Given the description of an element on the screen output the (x, y) to click on. 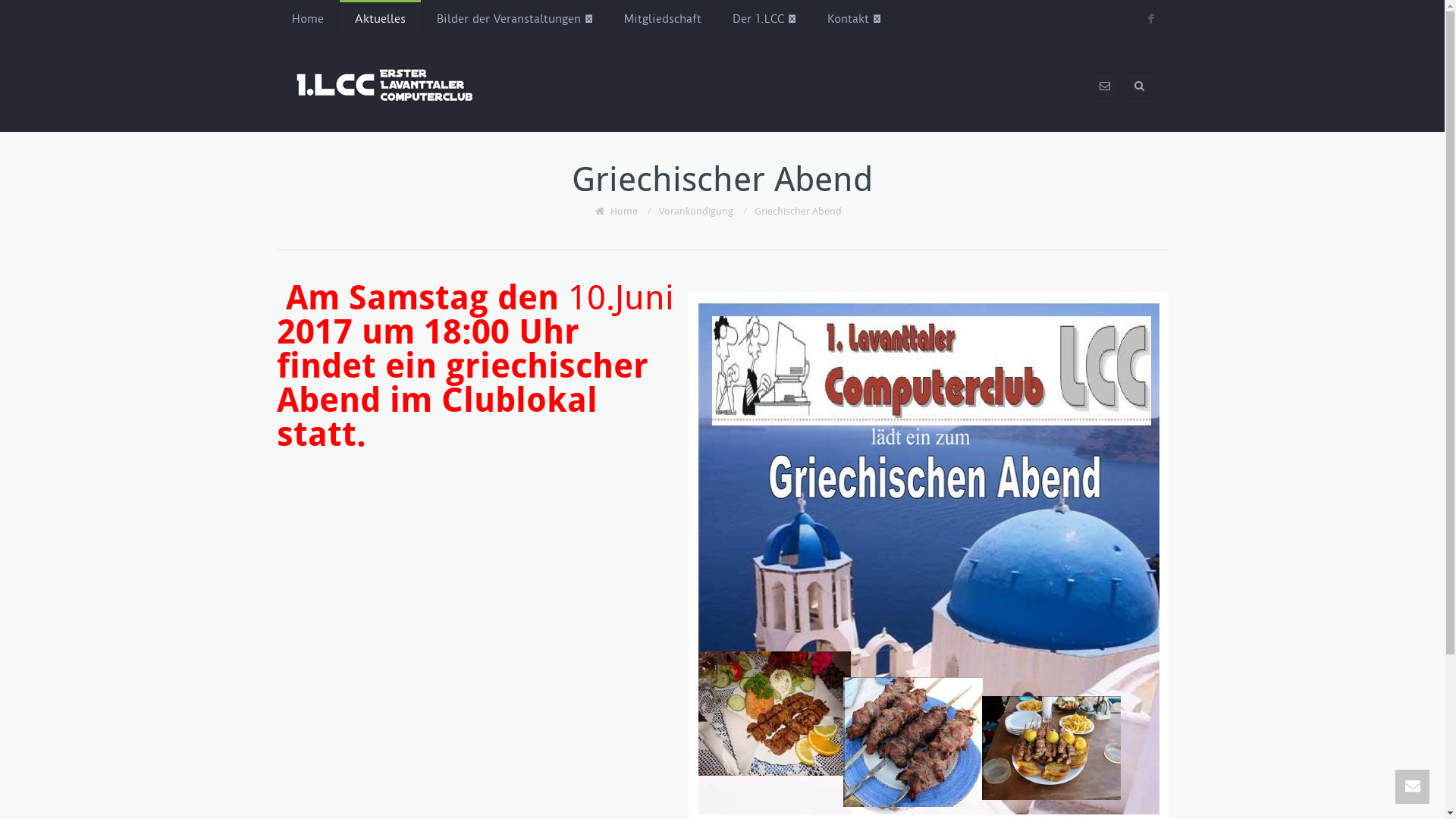
Home Element type: text (623, 210)
1. Lavanttaler Computerclub Element type: hover (385, 84)
F Element type: text (1150, 19)
Mitgliedschaft Element type: text (661, 18)
Aktuelles Element type: text (379, 18)
Griechischer Abend Element type: text (797, 210)
Home Element type: text (307, 18)
